Given the description of an element on the screen output the (x, y) to click on. 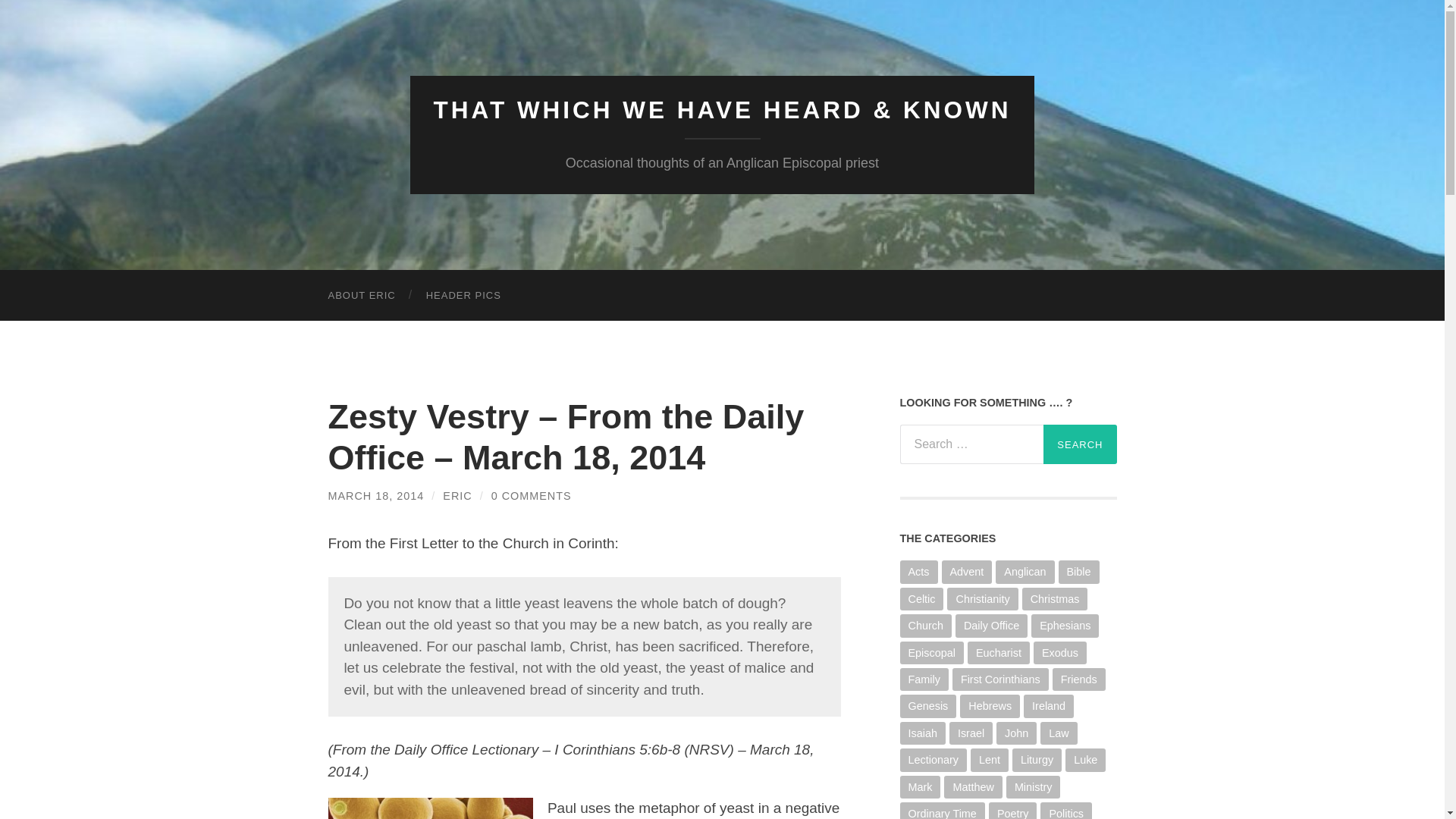
Search (1079, 444)
ABOUT ERIC (361, 295)
Saccharomyces Cerevisiae Yeast (429, 808)
MARCH 18, 2014 (375, 495)
Posts by eric (456, 495)
Search (1079, 444)
HEADER PICS (463, 295)
Search (1079, 444)
ERIC (456, 495)
0 COMMENTS (532, 495)
